Given the description of an element on the screen output the (x, y) to click on. 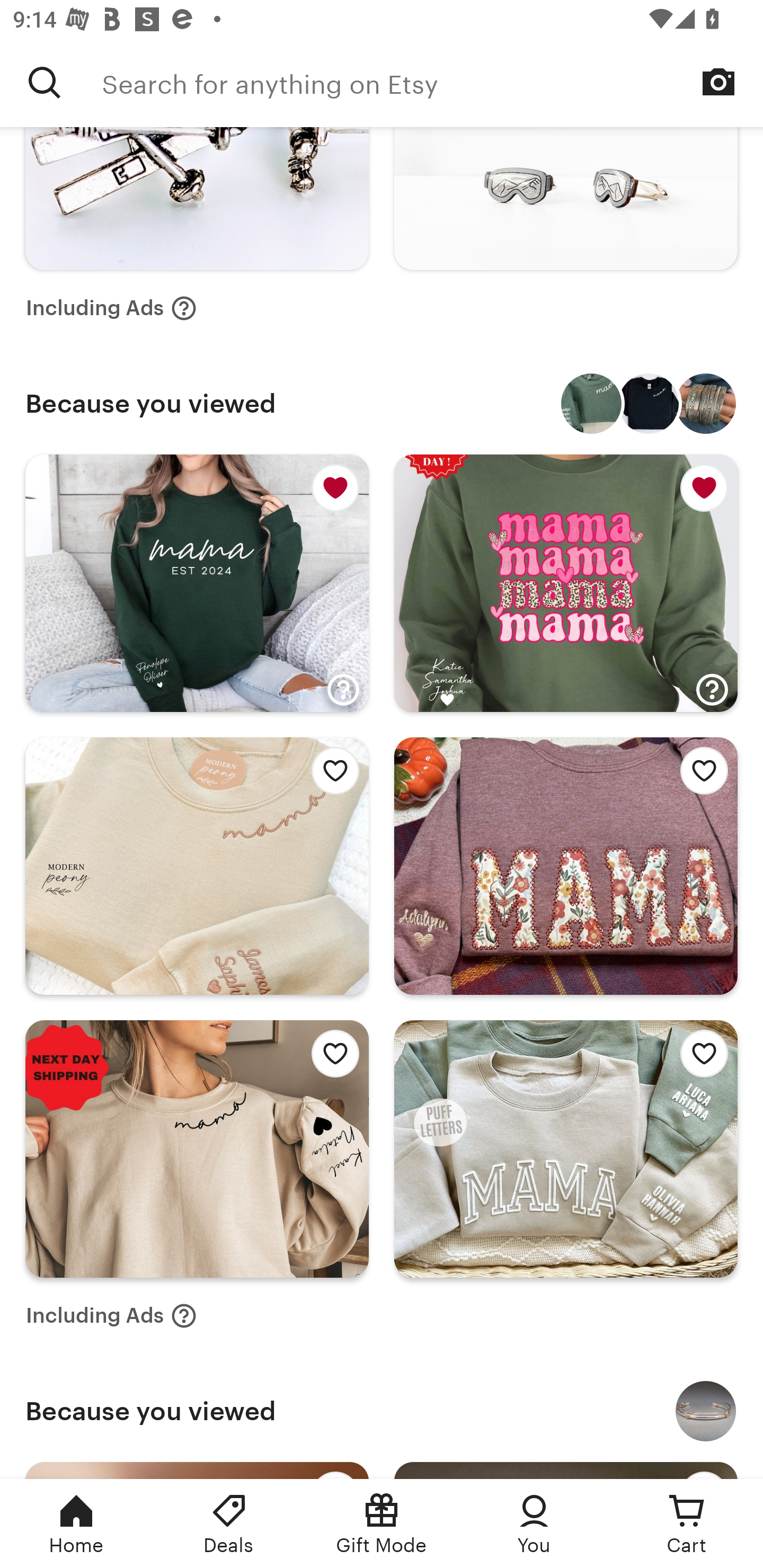
Search for anything on Etsy (44, 82)
Search by image (718, 81)
Search for anything on Etsy (432, 82)
Including Ads (111, 307)
Including Ads (111, 1315)
Deals (228, 1523)
Gift Mode (381, 1523)
You (533, 1523)
Cart (686, 1523)
